Given the description of an element on the screen output the (x, y) to click on. 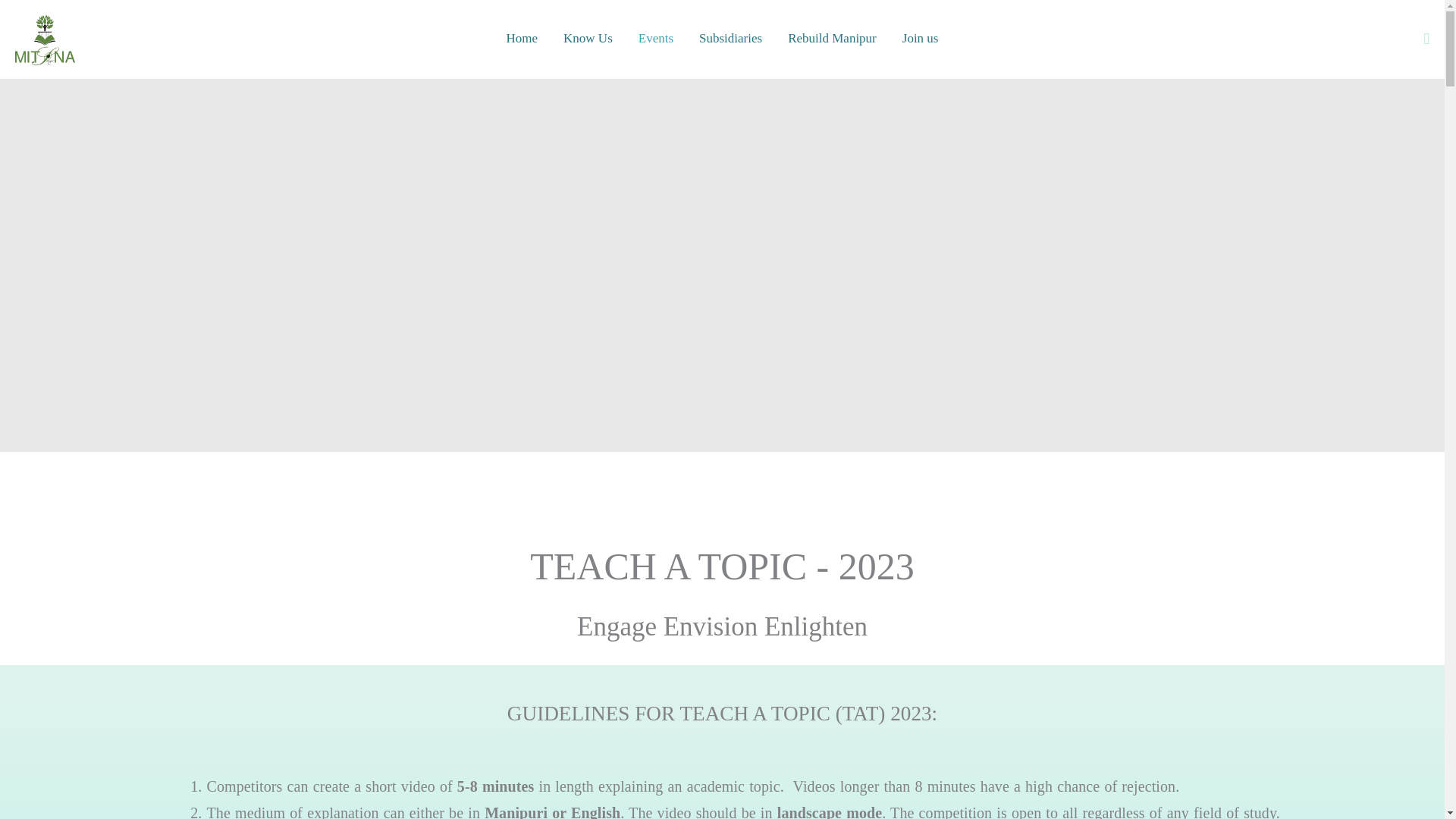
Subsidiaries (729, 38)
Events (655, 38)
Rebuild Manipur (831, 38)
Know Us (588, 38)
Join us (920, 38)
Home (521, 38)
